Given the description of an element on the screen output the (x, y) to click on. 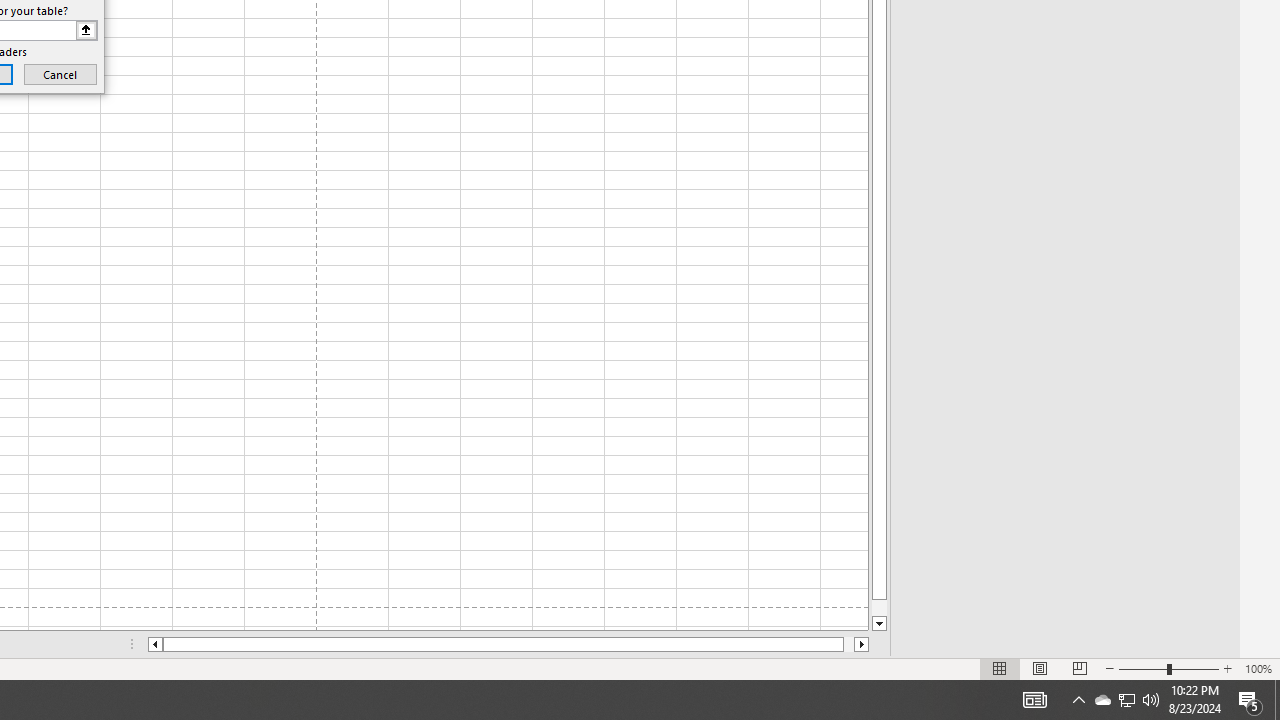
Column right (861, 644)
Page Break Preview (1079, 668)
Zoom In (1227, 668)
Class: NetUIScrollBar (507, 644)
Normal (1000, 668)
Line down (879, 624)
Zoom (1168, 668)
Page right (848, 644)
Page down (879, 607)
Column left (153, 644)
Zoom Out (1142, 668)
